Given the description of an element on the screen output the (x, y) to click on. 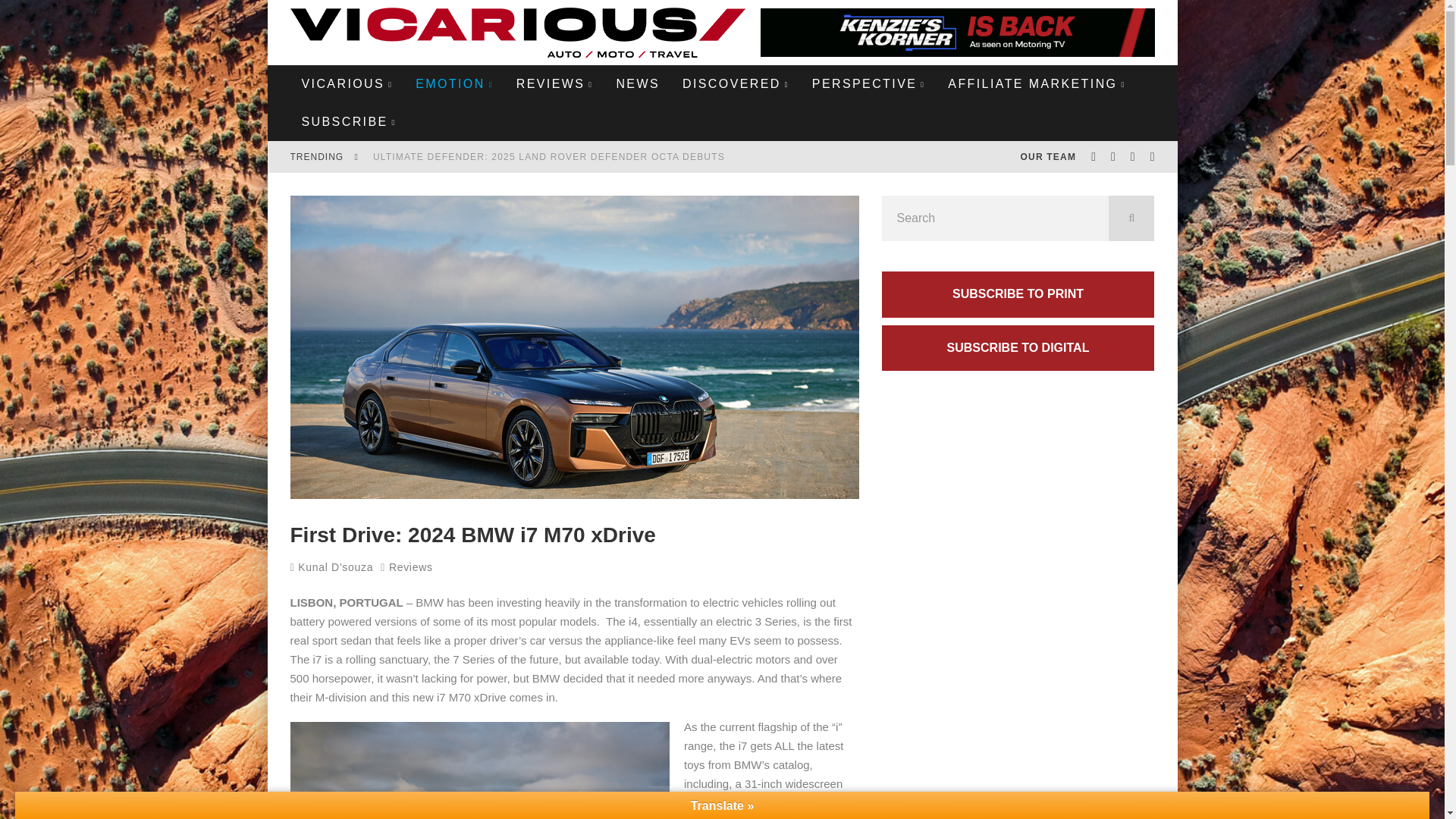
REVIEWS (555, 84)
Ultimate Defender: 2025 Land Rover Defender OCTA Debuts (548, 156)
EMOTION (454, 84)
VICARIOUS (346, 84)
Advertisement (1017, 731)
